Given the description of an element on the screen output the (x, y) to click on. 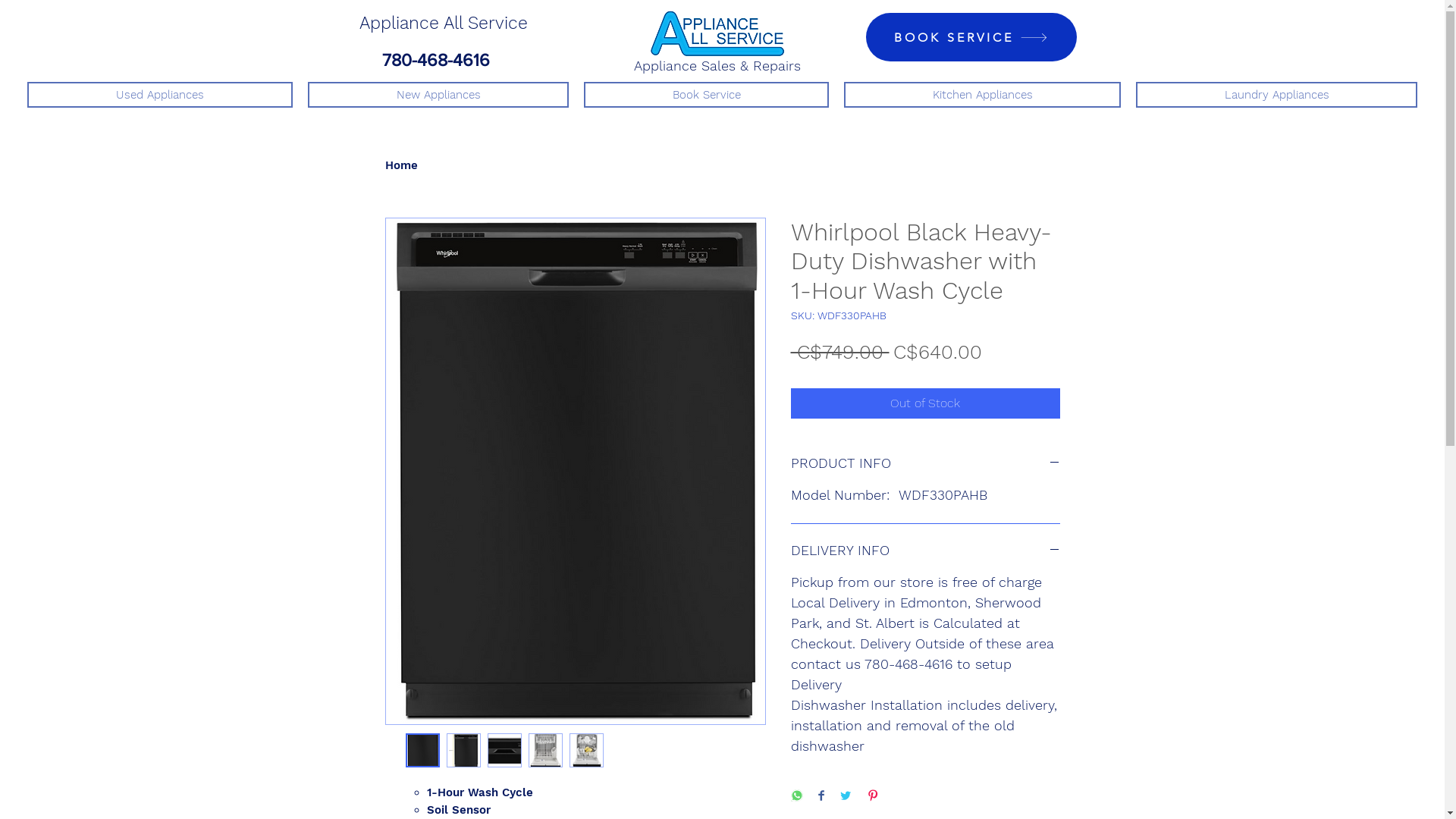
Appliance Sales & Repairs Element type: text (716, 65)
Used Appliances Element type: text (159, 94)
DELIVERY INFO Element type: text (924, 550)
New Appliances Element type: text (437, 94)
Out of Stock Element type: text (924, 403)
Appliance All Service Element type: text (443, 22)
Book Service Element type: text (705, 94)
PRODUCT INFO Element type: text (924, 463)
Home Element type: text (401, 165)
BOOK SERVICE Element type: text (971, 36)
780-468-4616 Element type: text (435, 59)
